Given the description of an element on the screen output the (x, y) to click on. 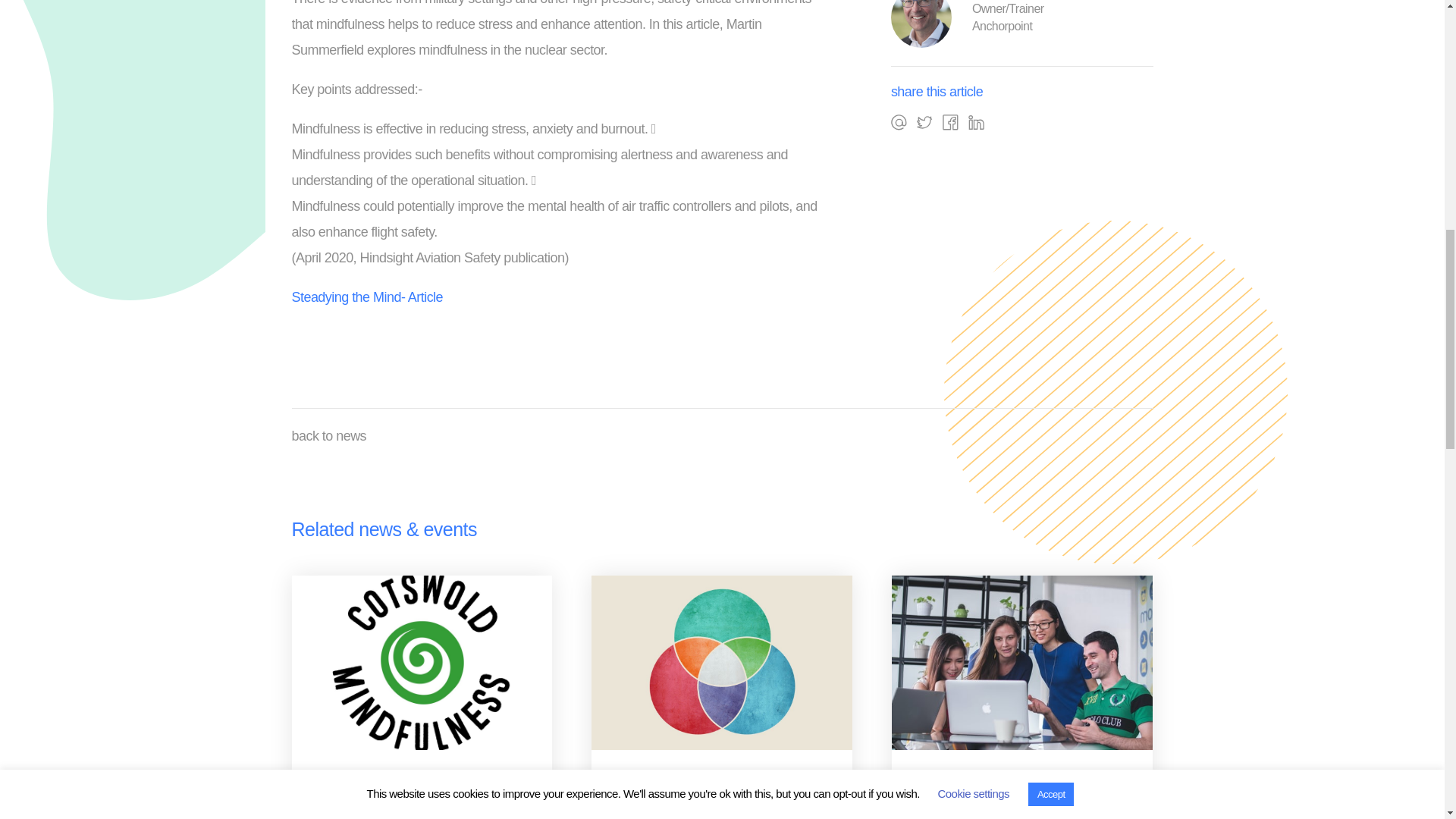
Steadying the Mind- Article (366, 296)
The Role of Mindfulness in Team Work and Collaboration (1021, 804)
back to news (328, 435)
